Given the description of an element on the screen output the (x, y) to click on. 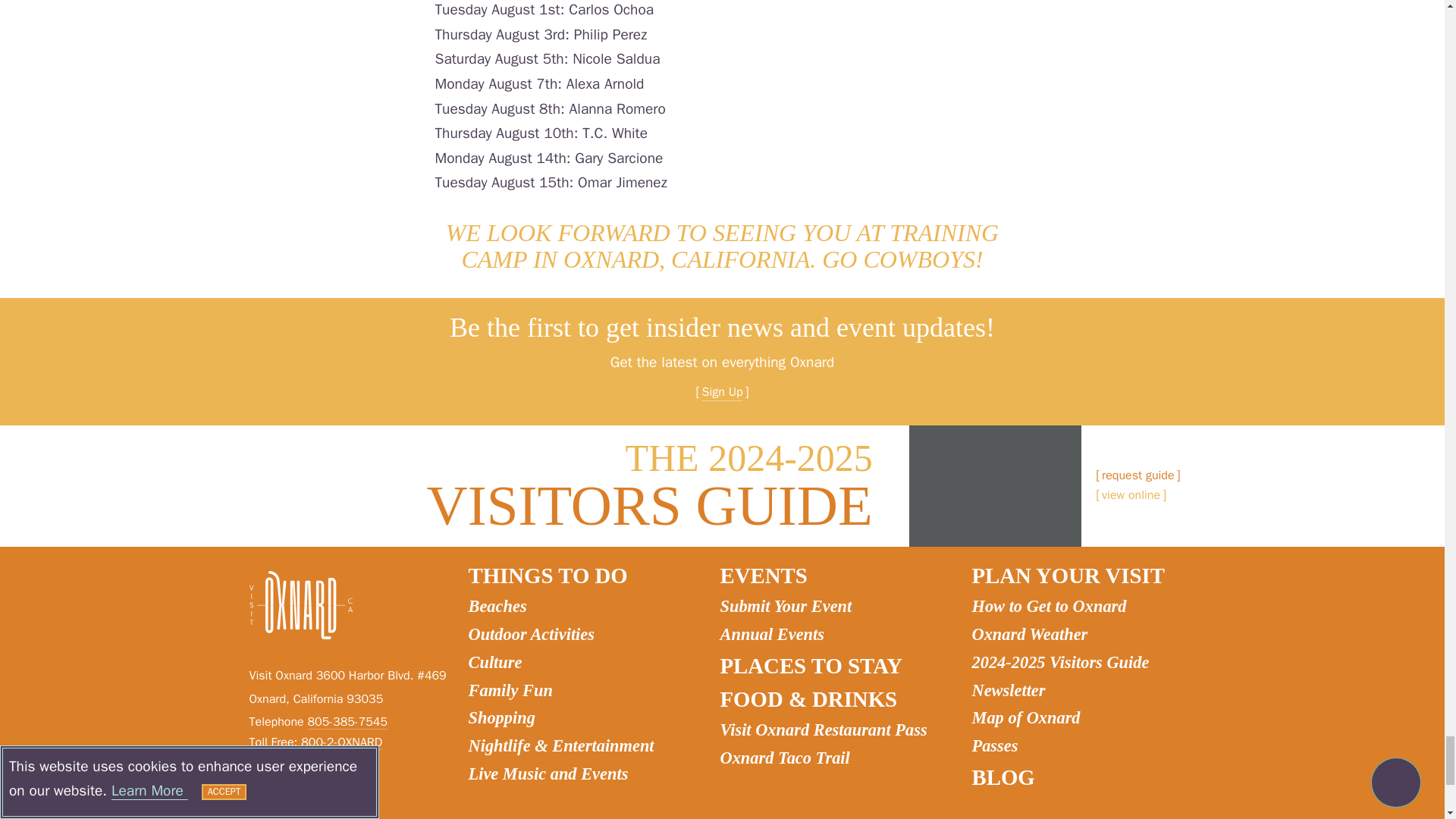
Sign Up (722, 393)
view online (1131, 496)
THINGS TO DO (583, 575)
request guide (1137, 476)
